Given the description of an element on the screen output the (x, y) to click on. 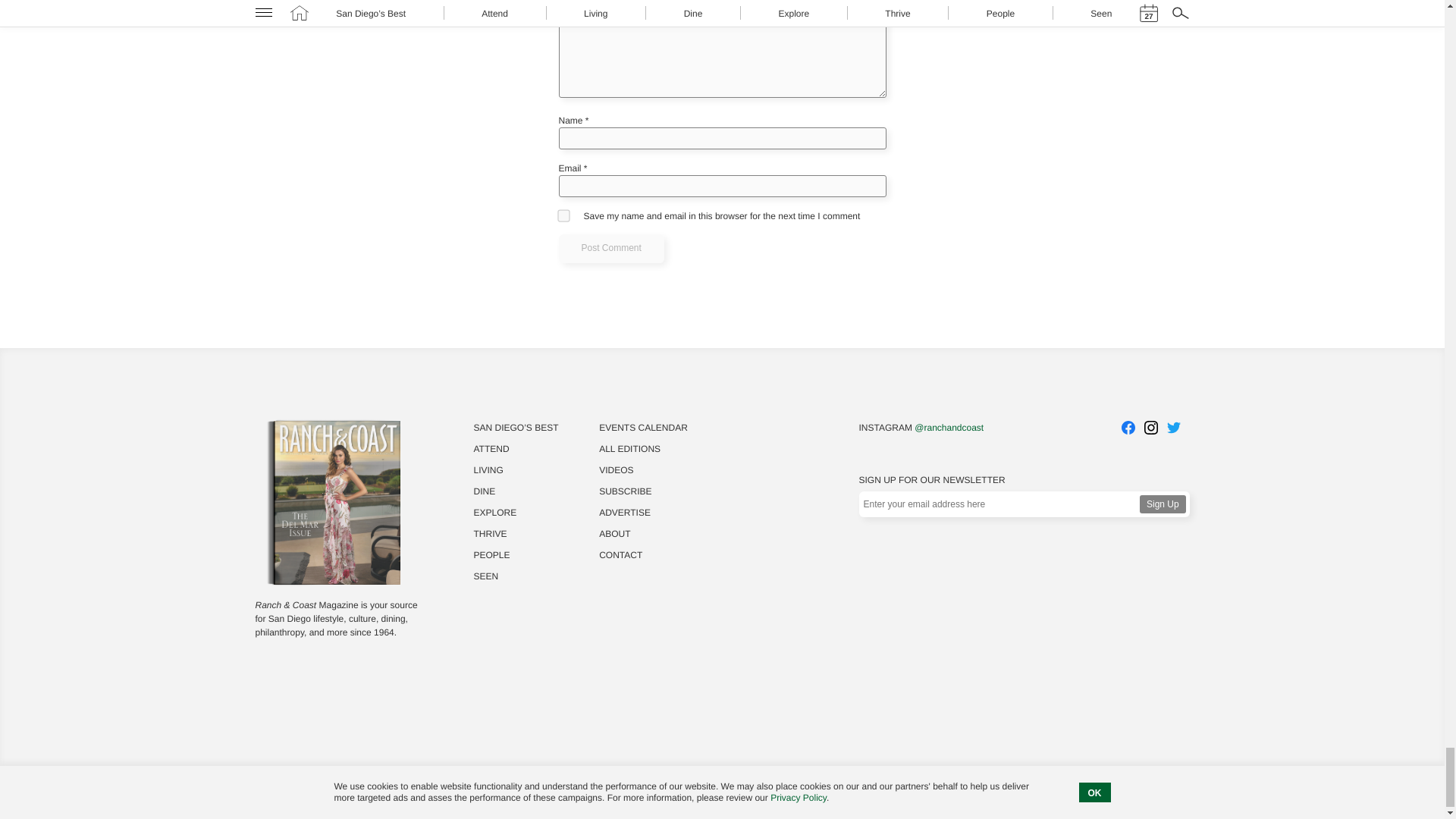
on (562, 214)
Sign Up (1163, 504)
Post Comment (610, 248)
